Given the description of an element on the screen output the (x, y) to click on. 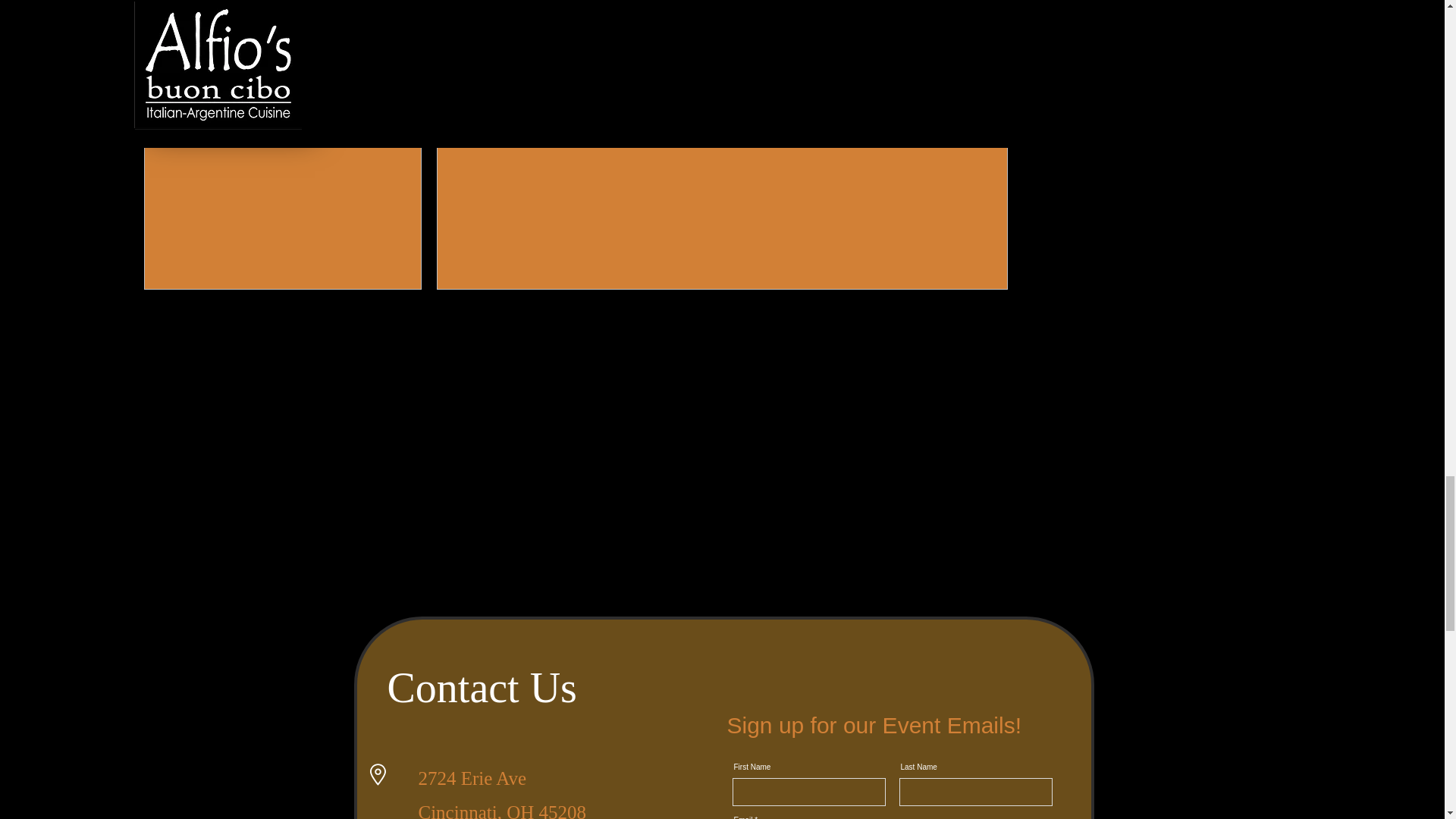
View Gallery (138, 302)
View Gallery (722, 173)
